Given the description of an element on the screen output the (x, y) to click on. 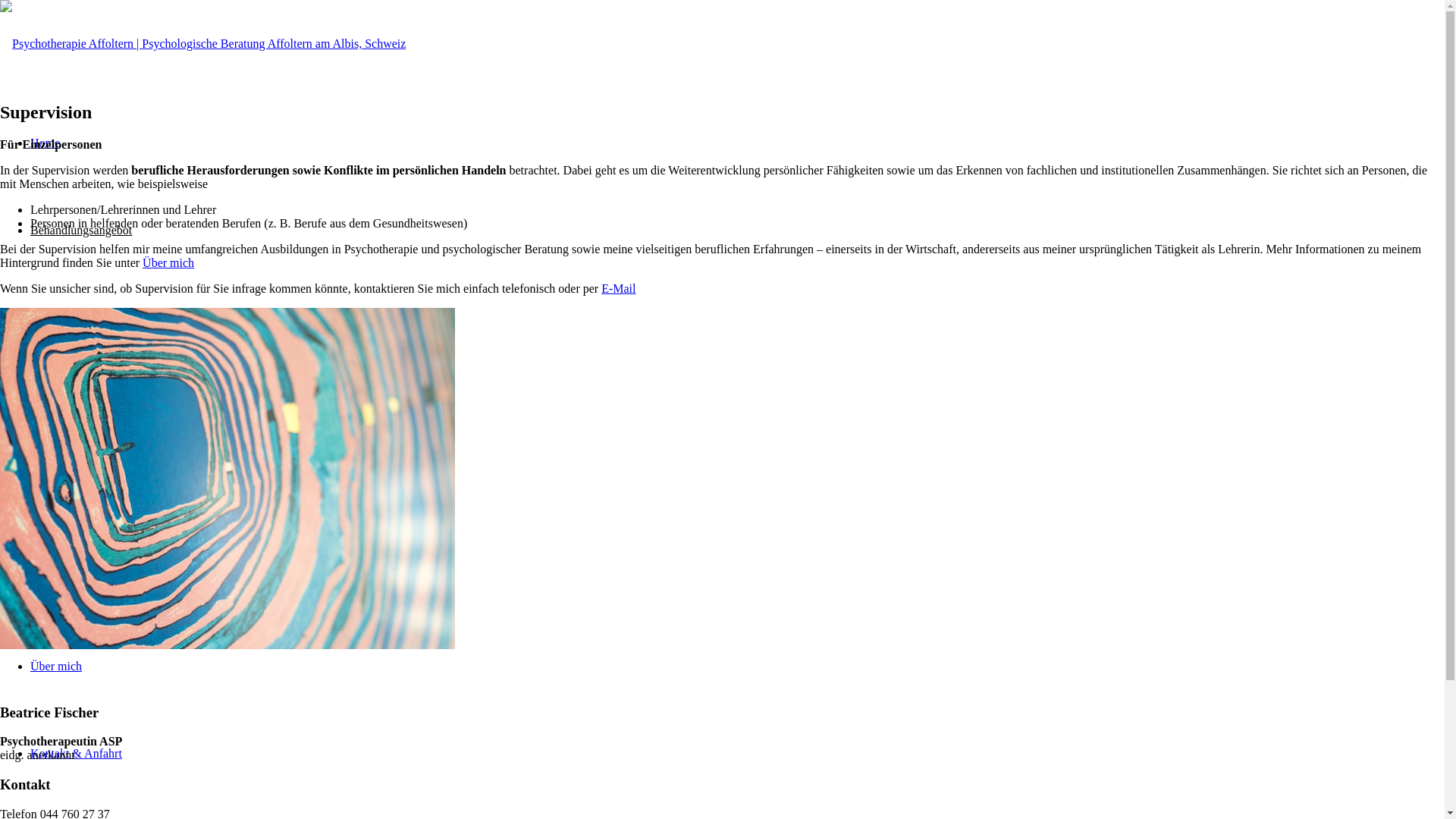
Home Element type: text (44, 142)
Coaching Element type: text (83, 404)
Supervision- Affoltern am Albis, Beatrice Fischer Element type: hover (227, 478)
Psychotherapie und Psychologische Beratung Element type: text (171, 316)
Kontakt & Anfahrt Element type: text (76, 752)
Behandlungsangebot Element type: text (80, 229)
Wie ich arbeite Element type: text (66, 578)
E-Mail Element type: text (618, 288)
Supervision Element type: text (89, 491)
Logo Psychotherapie Beatrice Fischer, Affoltern am Albis Element type: hover (202, 43)
